Given the description of an element on the screen output the (x, y) to click on. 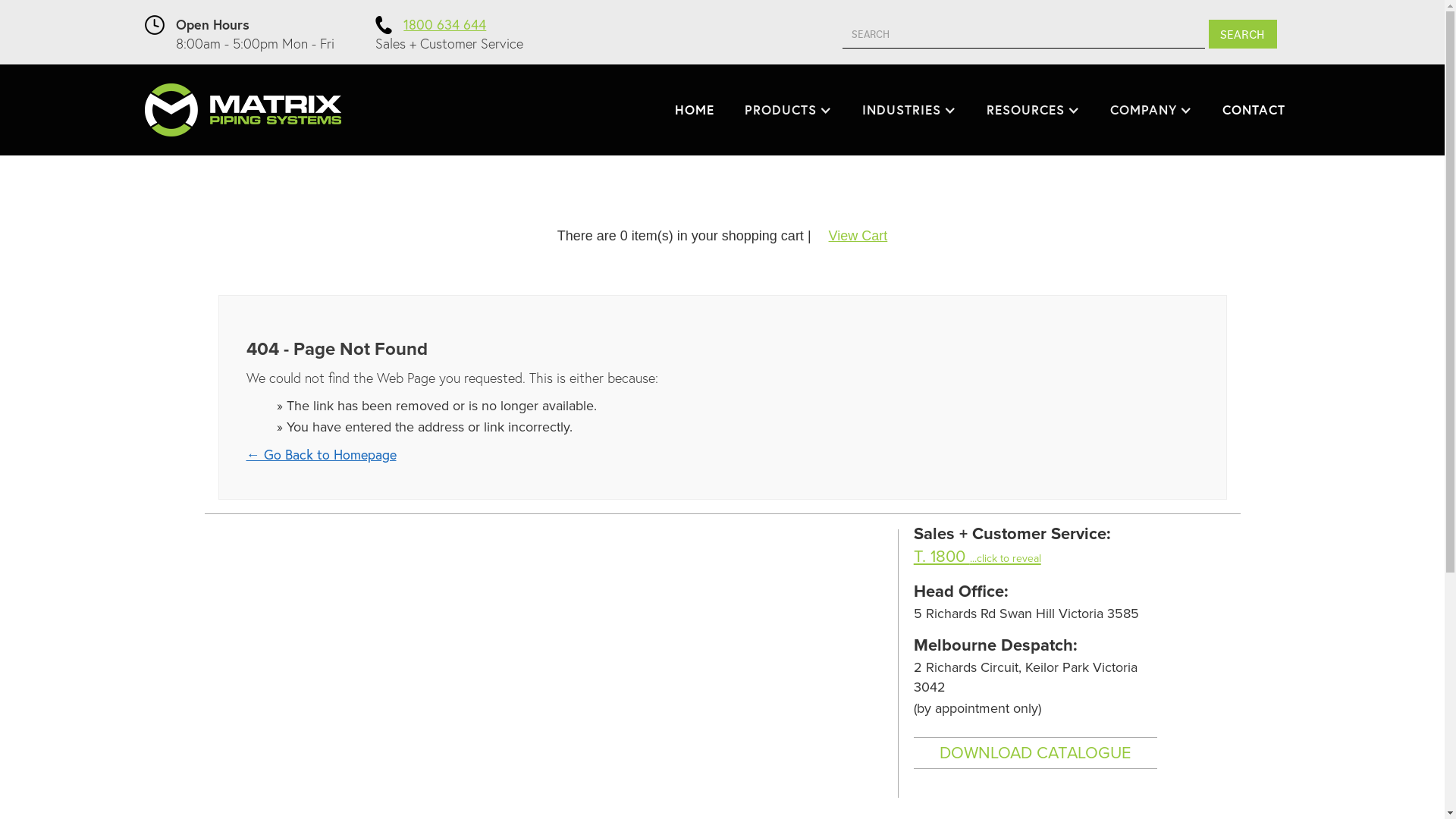
HOME Element type: text (694, 109)
View Cart Element type: text (858, 235)
CONTACT Element type: text (1253, 109)
T. 1800 ...click to reveal Element type: text (977, 556)
1800 634 644 Element type: text (444, 24)
SEARCH Element type: text (1242, 33)
DOWNLOAD CATALOGUE Element type: text (1035, 752)
